Given the description of an element on the screen output the (x, y) to click on. 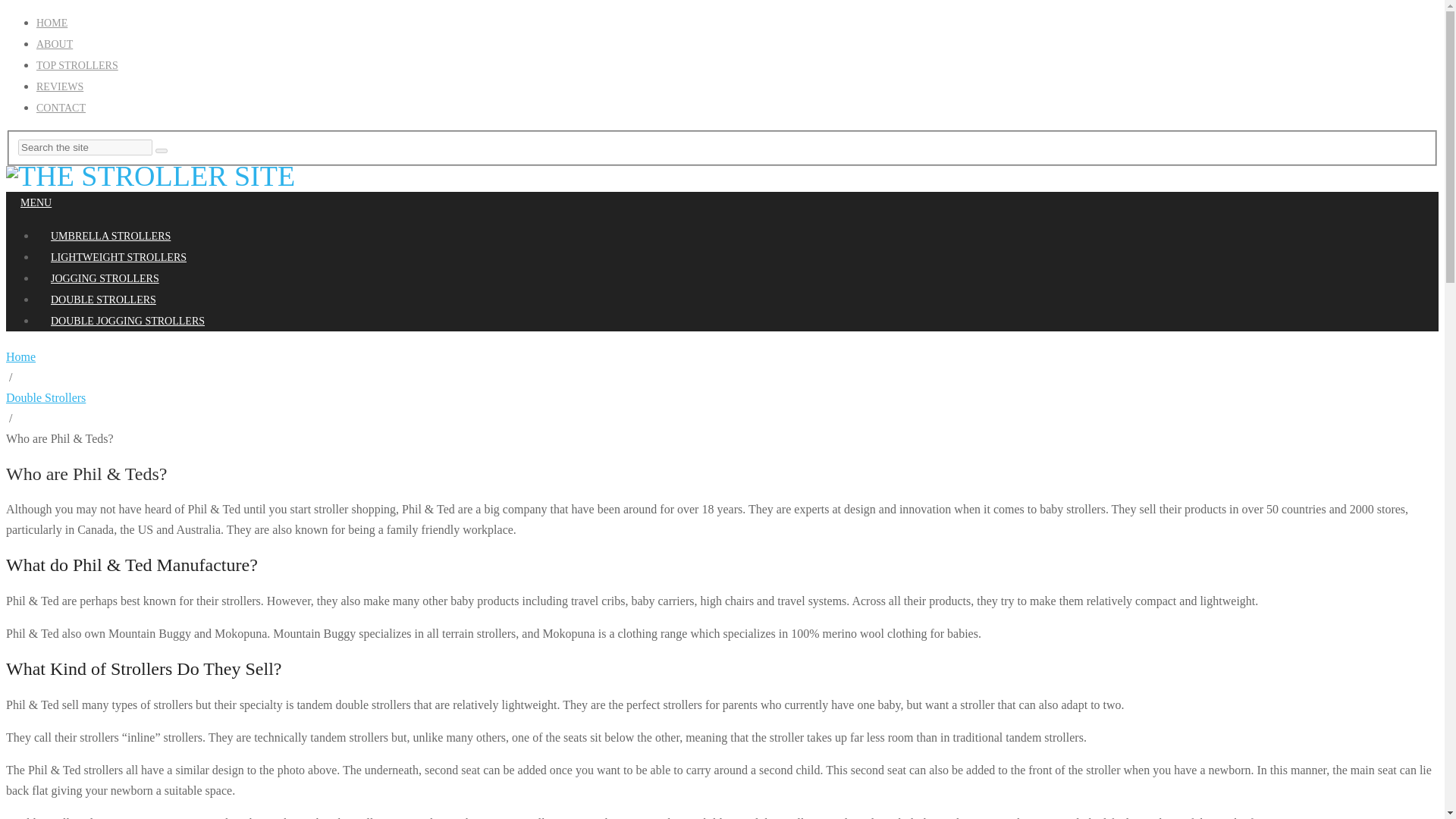
Home (19, 356)
LIGHTWEIGHT STROLLERS (118, 257)
CONTACT (60, 107)
Double Strollers (45, 397)
ABOUT (54, 43)
TOP STROLLERS (76, 65)
REVIEWS (59, 86)
DOUBLE JOGGING STROLLERS (127, 320)
HOME (51, 22)
MENU (35, 202)
